Given the description of an element on the screen output the (x, y) to click on. 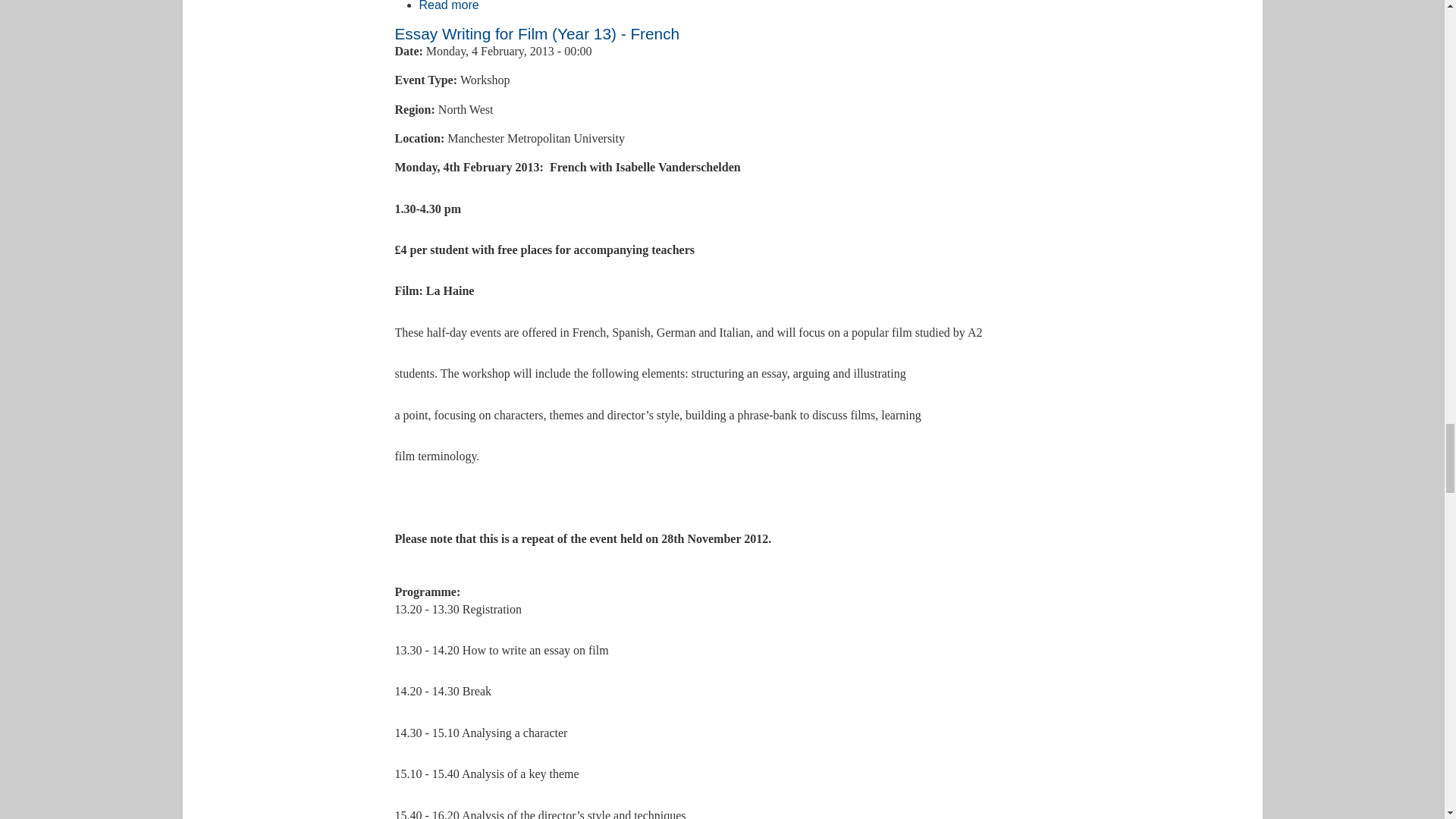
Manchester Children's Book Festival 2012 (449, 6)
